Given the description of an element on the screen output the (x, y) to click on. 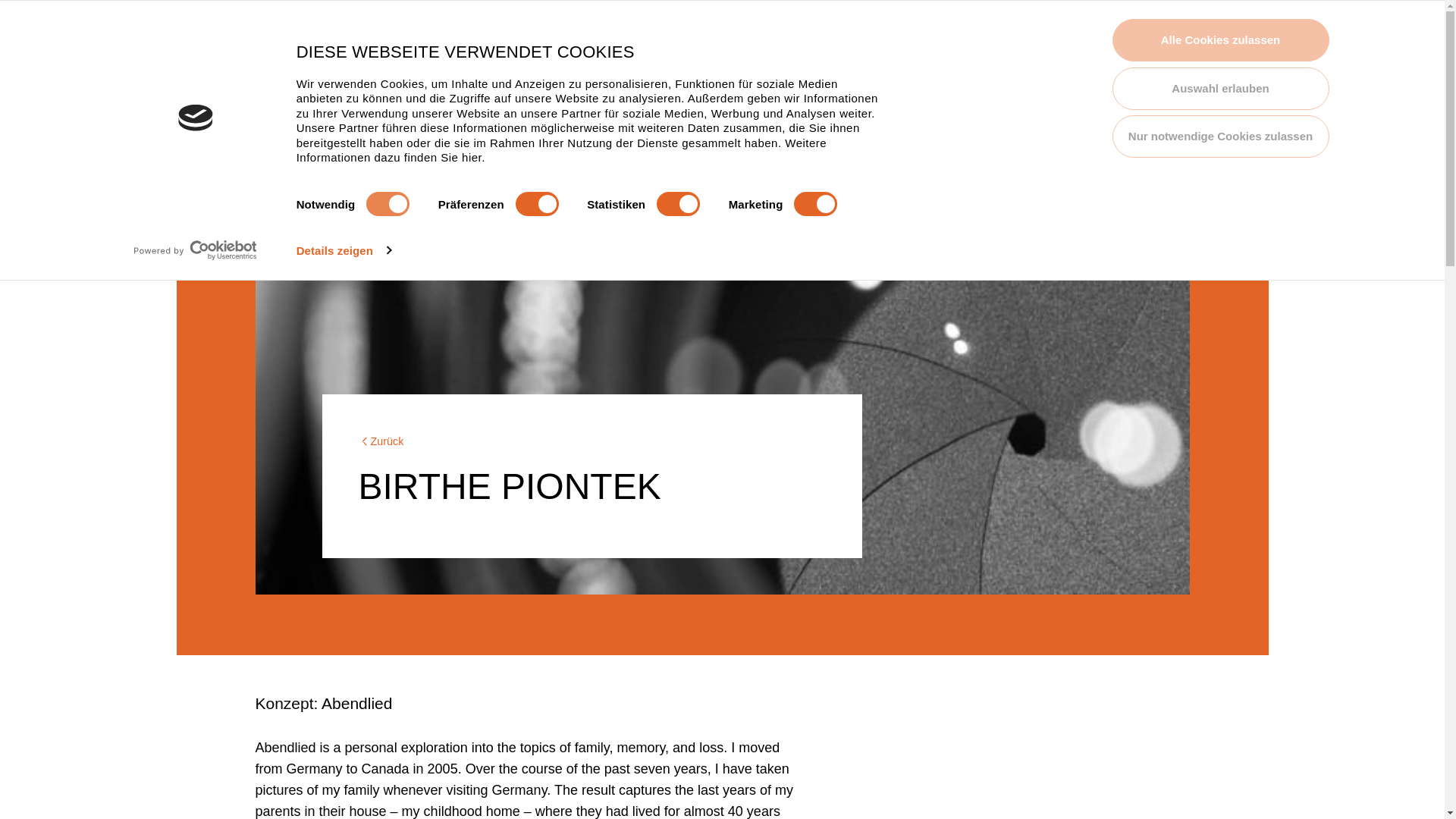
Details zeigen (344, 250)
